Given the description of an element on the screen output the (x, y) to click on. 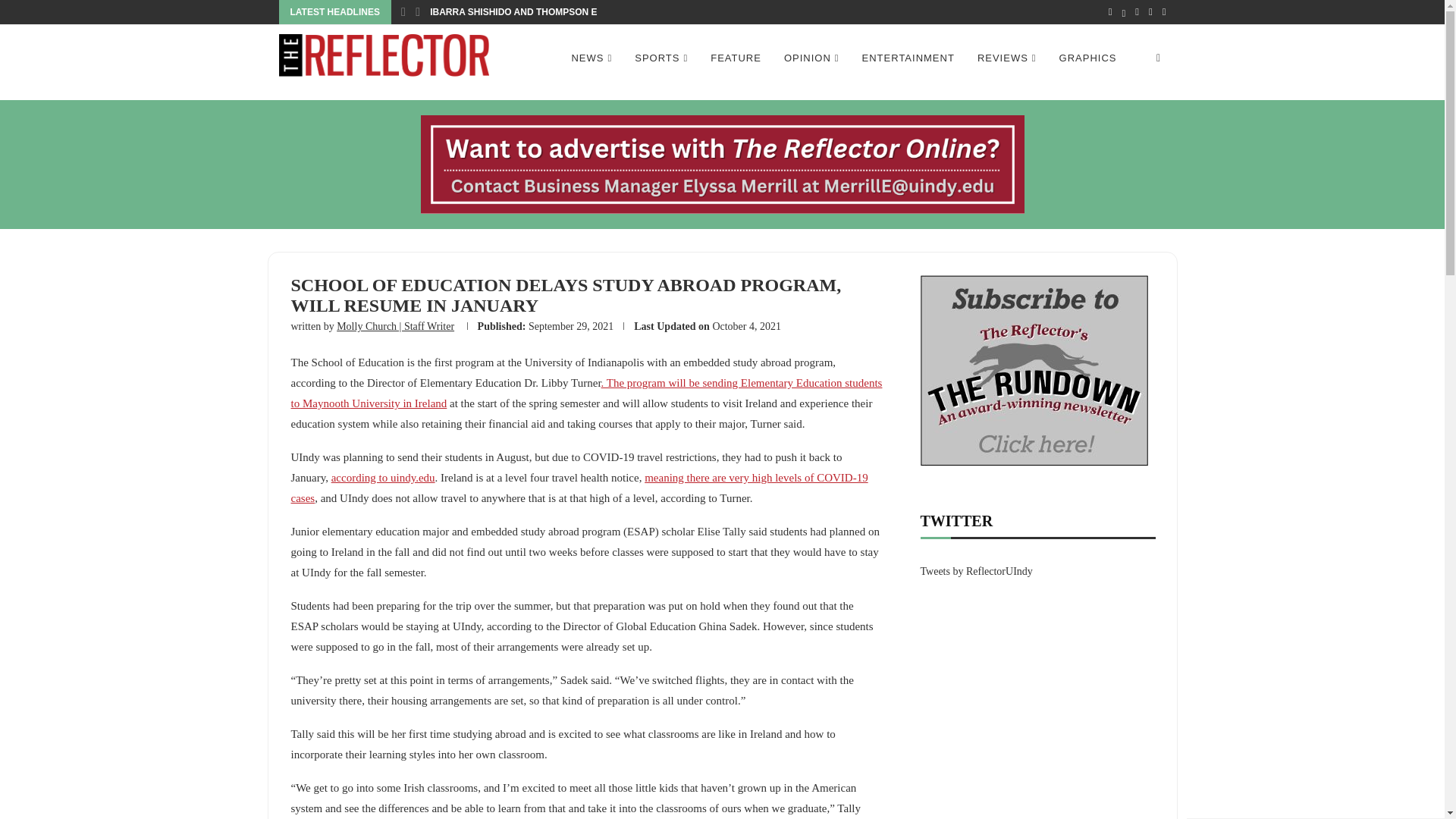
NEWS (590, 58)
SPORTS (660, 58)
